Given the description of an element on the screen output the (x, y) to click on. 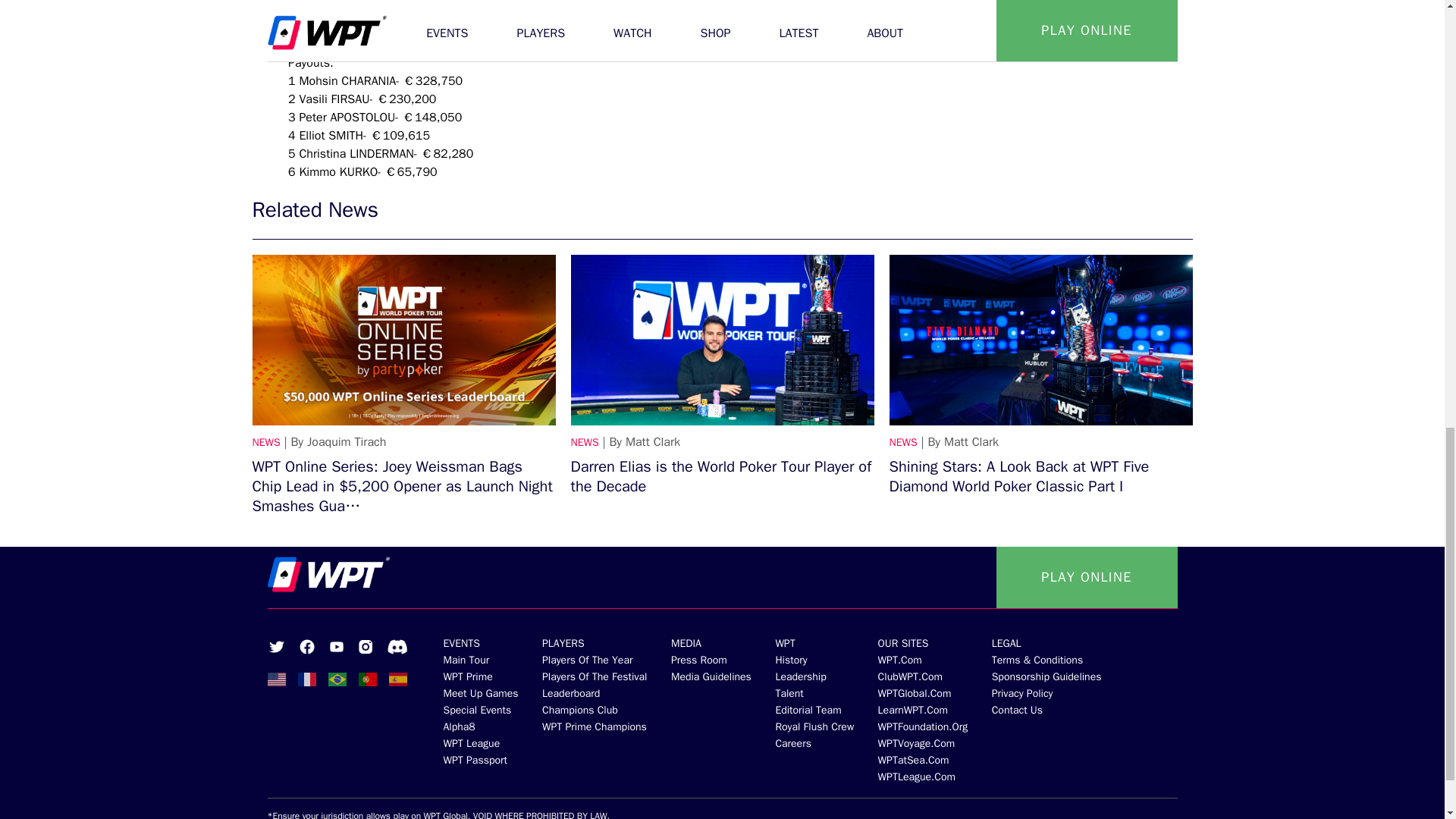
Facebook (306, 646)
English (276, 678)
Darren Elias is the World Poker Tour Player of the Decade (721, 339)
Discord (396, 646)
Twitter (275, 646)
Instagram (364, 646)
Youtube (335, 646)
